Given the description of an element on the screen output the (x, y) to click on. 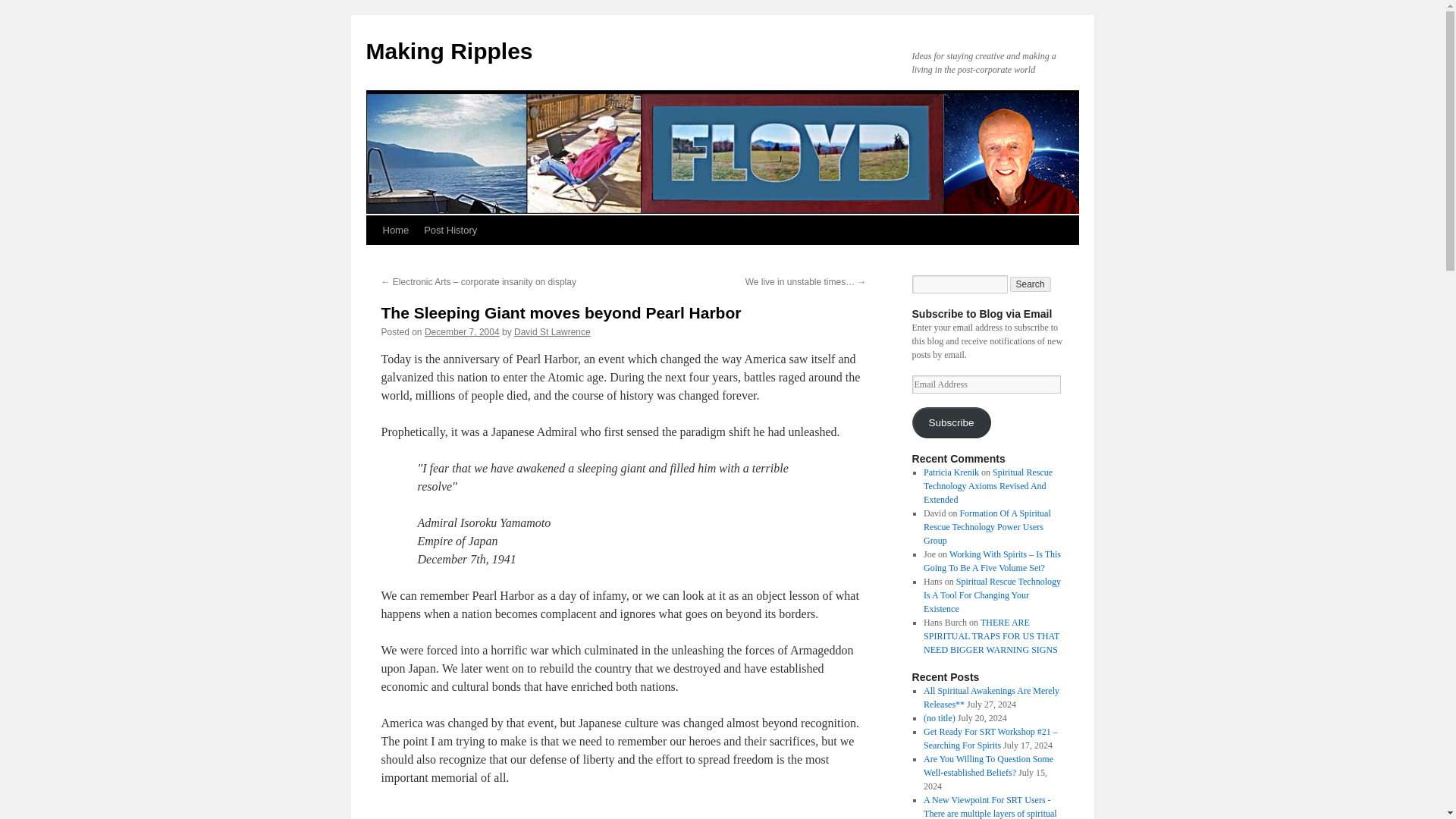
Home (395, 230)
Skip to content (372, 258)
Post History (450, 230)
Spiritual Rescue Technology Axioms Revised And Extended (987, 485)
David St Lawrence (552, 331)
View all posts by David St Lawrence (552, 331)
Patricia Krenik (950, 471)
Are You Willing To Question Some Well-established Beliefs? (987, 765)
Making Ripples (448, 50)
Search (1030, 283)
Subscribe (950, 422)
Formation Of A Spiritual Rescue Technology Power Users Group (987, 526)
December 7, 2004 (462, 331)
